Given the description of an element on the screen output the (x, y) to click on. 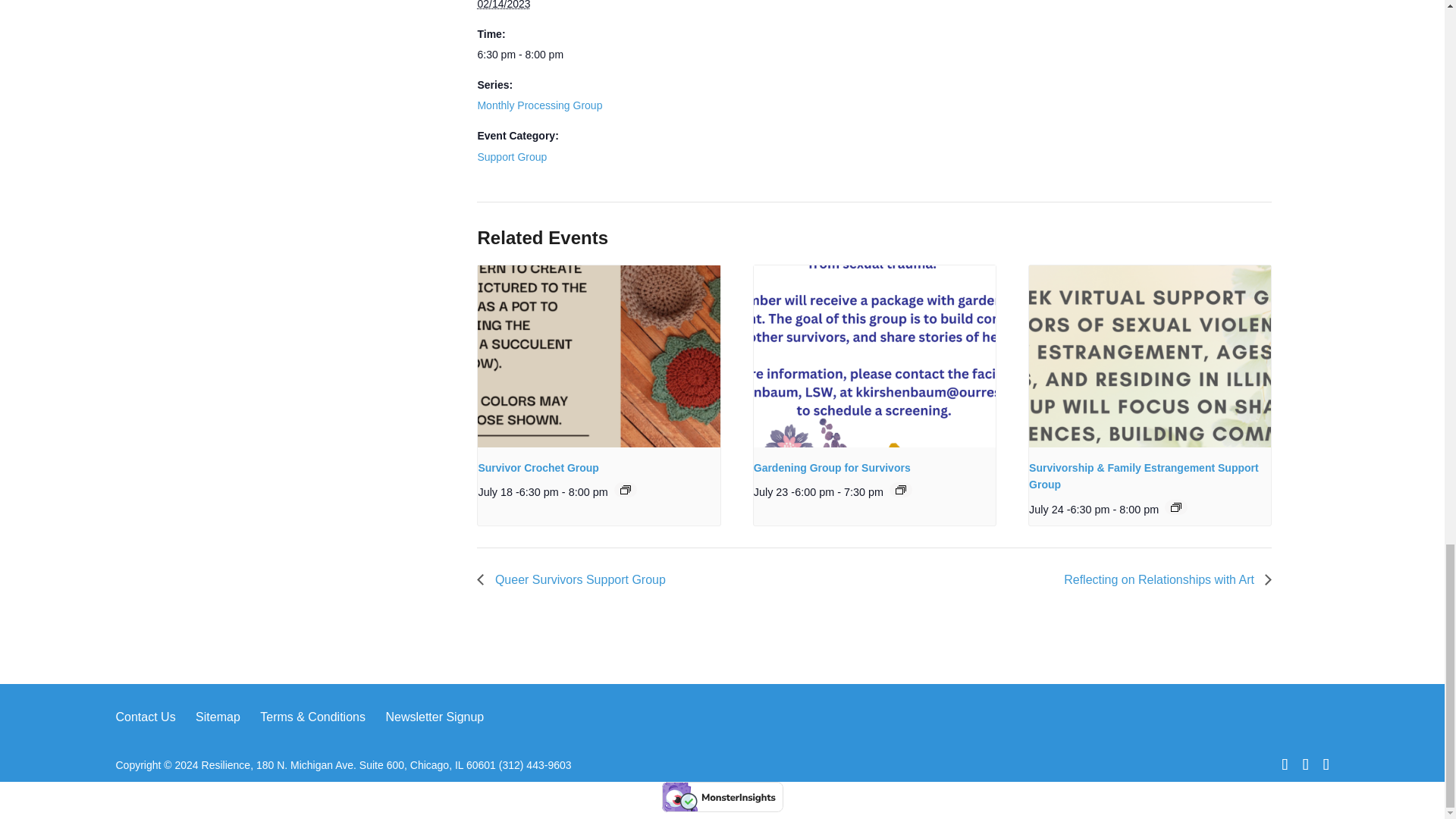
Event Series (900, 489)
2023-02-14 (503, 4)
Event Series (1175, 506)
2023-02-14 (540, 54)
Event Series (625, 489)
Monthly Processing Group (539, 105)
Verified by MonsterInsights (722, 797)
